Given the description of an element on the screen output the (x, y) to click on. 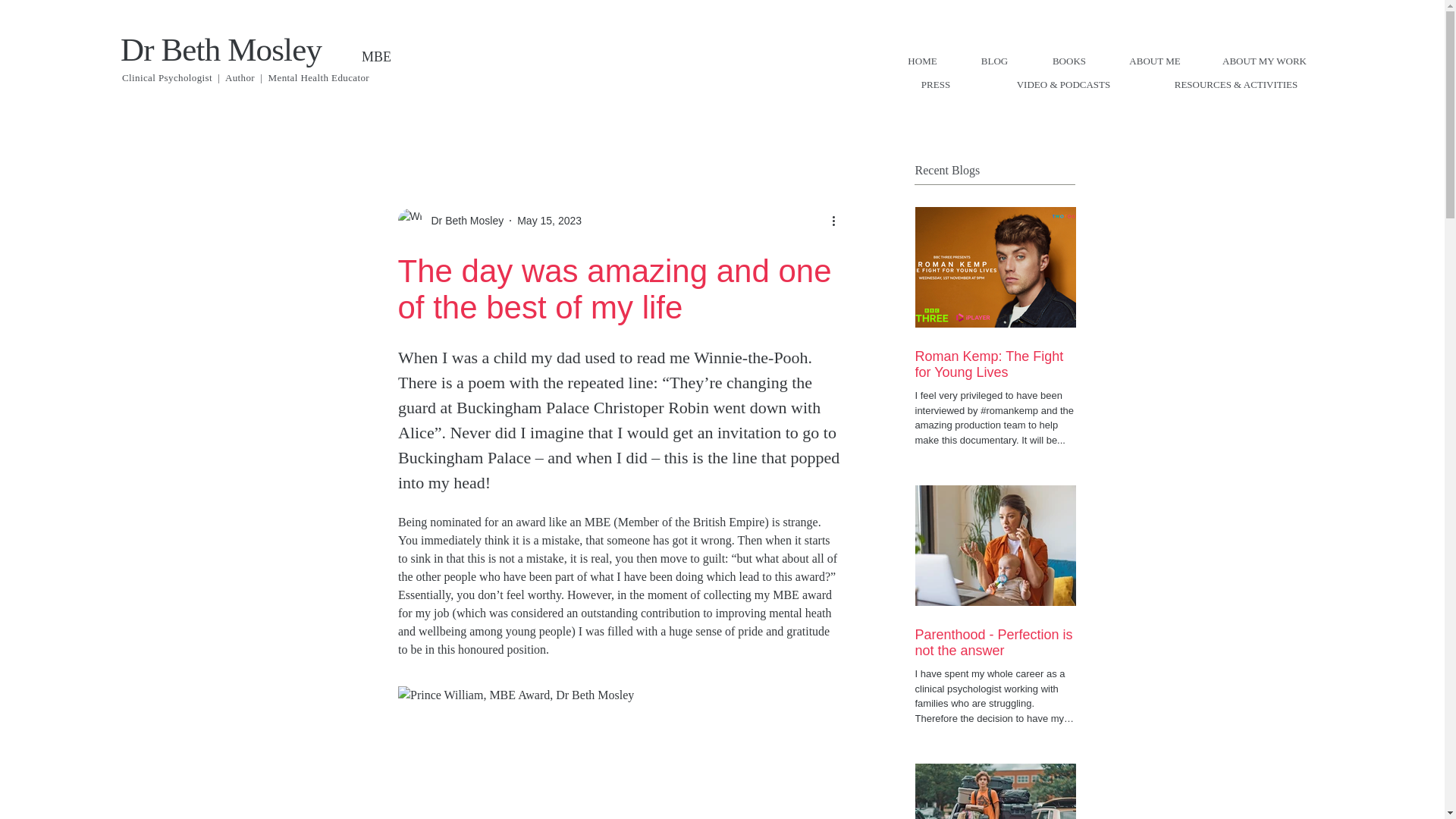
Parenthood - Perfection is not the answer (994, 643)
Dr Beth Mosley (220, 49)
May 15, 2023 (548, 219)
Roman Kemp: The Fight for Young Lives (994, 364)
HOME (922, 61)
ABOUT MY WORK (1263, 61)
Dr Beth Mosley (462, 220)
ABOUT ME (1154, 61)
PRESS (936, 85)
BOOKS (1068, 61)
BLOG (993, 61)
MBE (376, 56)
